Given the description of an element on the screen output the (x, y) to click on. 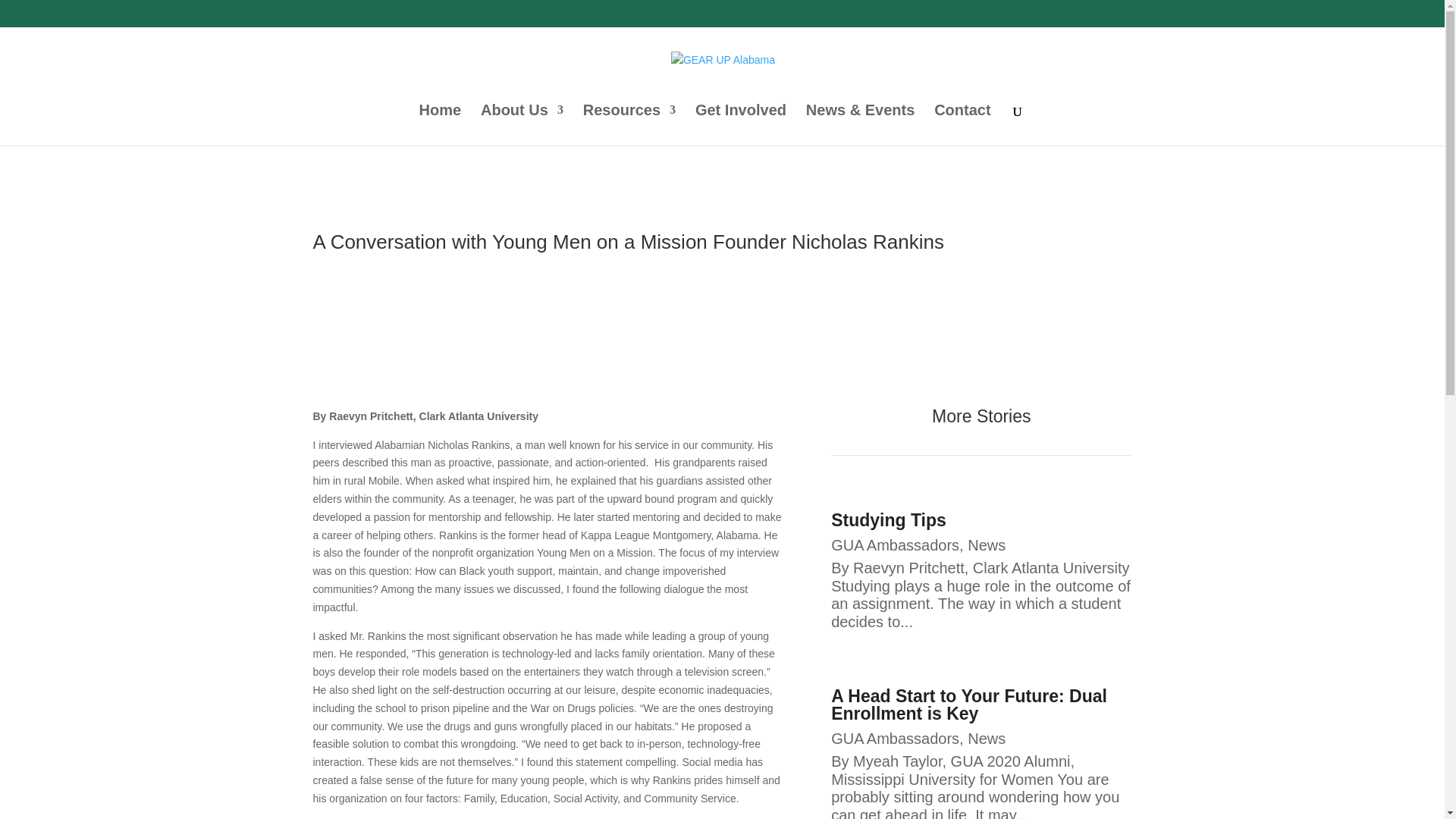
Contact (962, 124)
About Us (521, 124)
Resources (629, 124)
Home (440, 124)
Get Involved (740, 124)
News (987, 738)
GUA Ambassadors (895, 738)
A Head Start to Your Future: Dual Enrollment is Key (968, 704)
GUA Ambassadors (895, 545)
Studying Tips (888, 519)
News (987, 545)
